Given the description of an element on the screen output the (x, y) to click on. 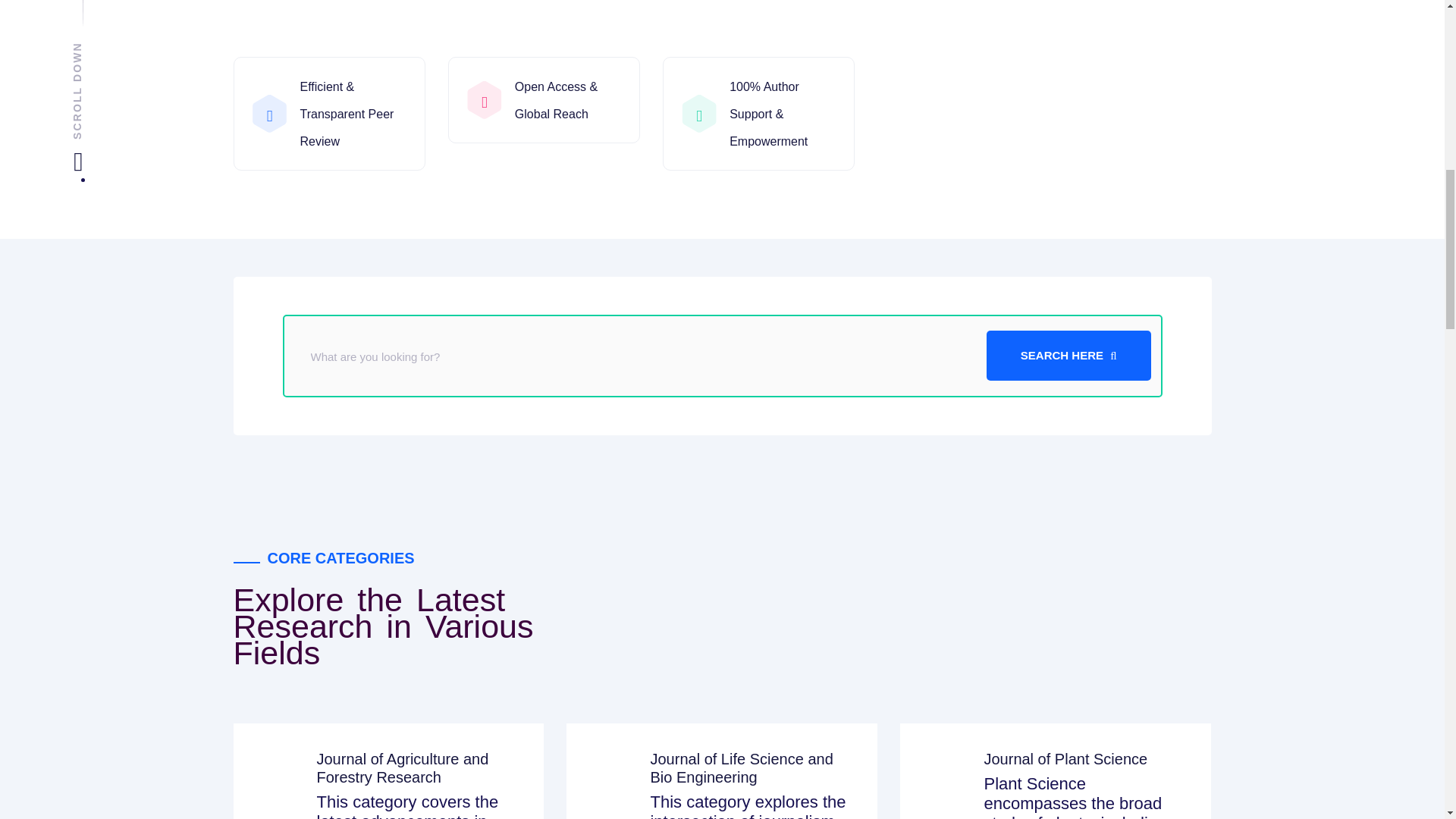
SCROLL DOWN (112, 54)
SCROLL DOWN (126, 54)
SCROLL DOWN (126, 54)
